Given the description of an element on the screen output the (x, y) to click on. 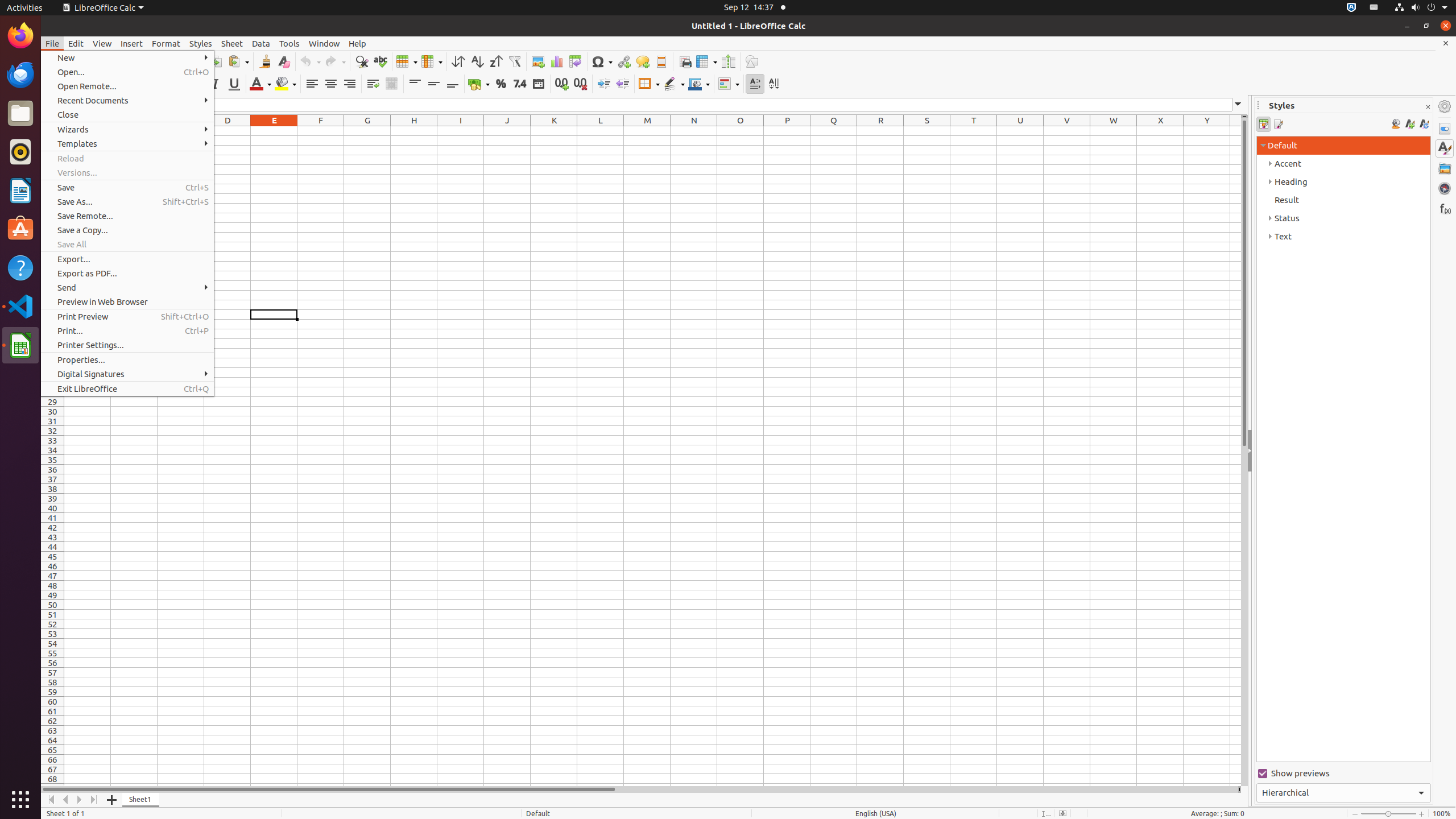
Text direction from top to bottom Element type: toggle-button (773, 83)
Percent Element type: push-button (500, 83)
Font Color Element type: push-button (260, 83)
R1 Element type: table-cell (880, 130)
J1 Element type: table-cell (507, 130)
